Given the description of an element on the screen output the (x, y) to click on. 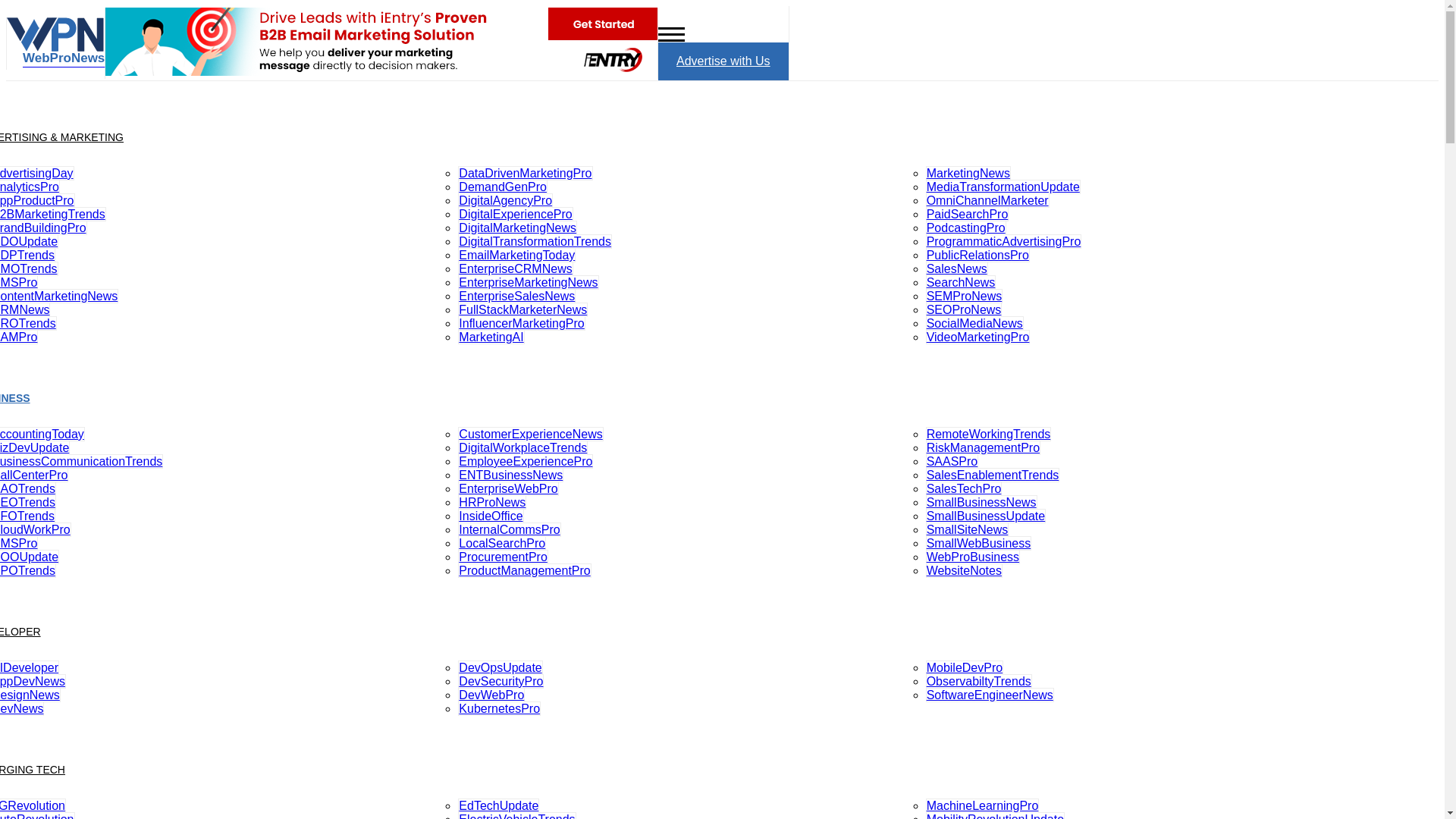
MediaTransformationUpdate (1003, 186)
FullStackMarketerNews (523, 309)
InfluencerMarketingPro (521, 323)
EnterpriseCRMNews (515, 268)
MarketingAI (491, 336)
EnterpriseMarketingNews (528, 282)
DemandGenPro (502, 186)
B2BMarketingTrends (53, 214)
MarketingNews (968, 173)
AppProductPro (37, 200)
WebProNews (55, 53)
EmailMarketingToday (516, 255)
DigitalMarketingNews (517, 227)
SalesNews (957, 268)
CDOUpdate (29, 241)
